Given the description of an element on the screen output the (x, y) to click on. 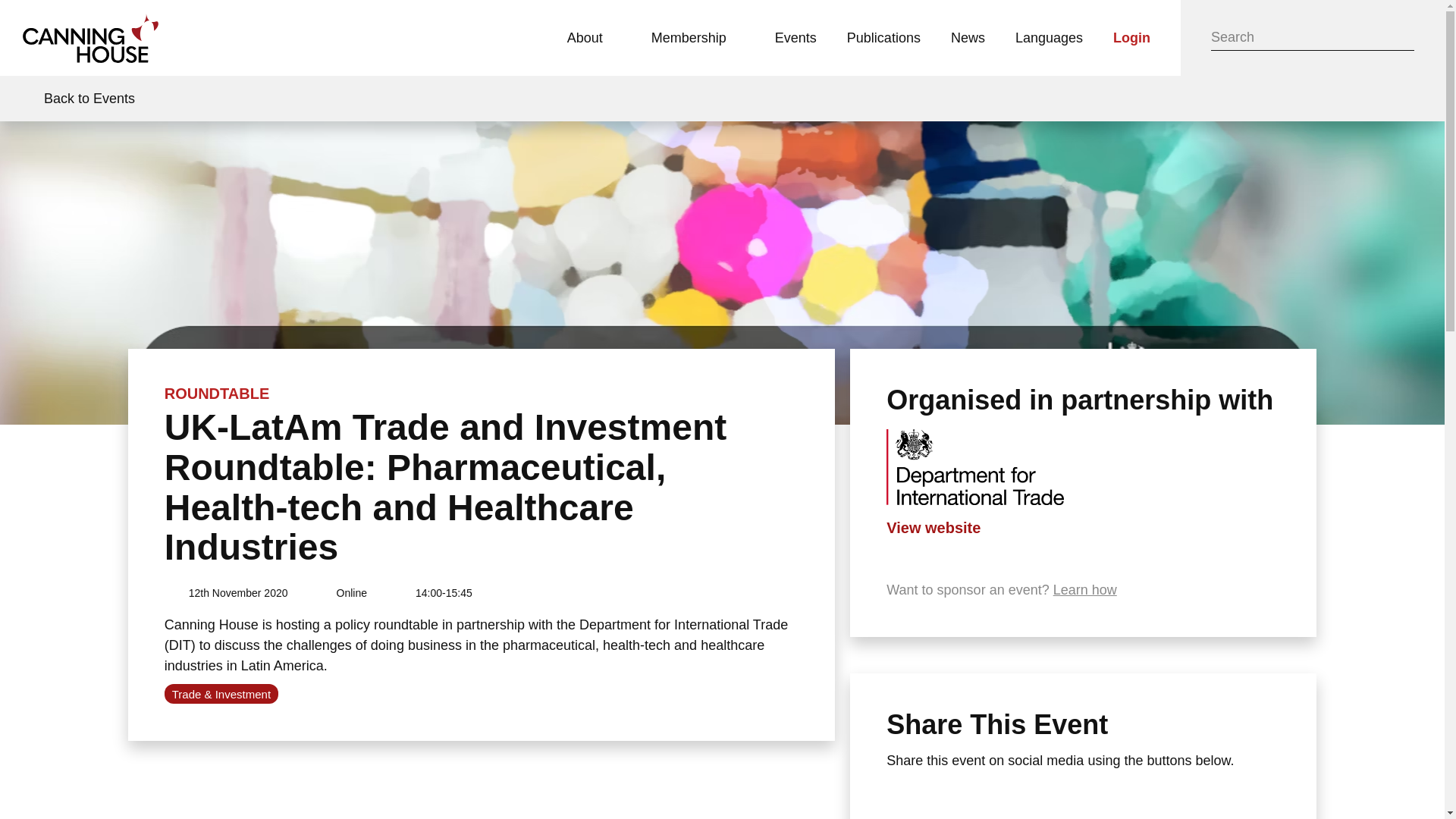
Membership (698, 38)
Events (795, 38)
Events (795, 38)
Login (1131, 38)
Back to Events (75, 98)
About (593, 38)
Log in (1131, 38)
Publications (883, 38)
Back to Events (75, 98)
View website (932, 527)
Learn how (1084, 589)
View website (932, 527)
Publications (883, 38)
Learn how (1084, 589)
Canning House (90, 38)
